Given the description of an element on the screen output the (x, y) to click on. 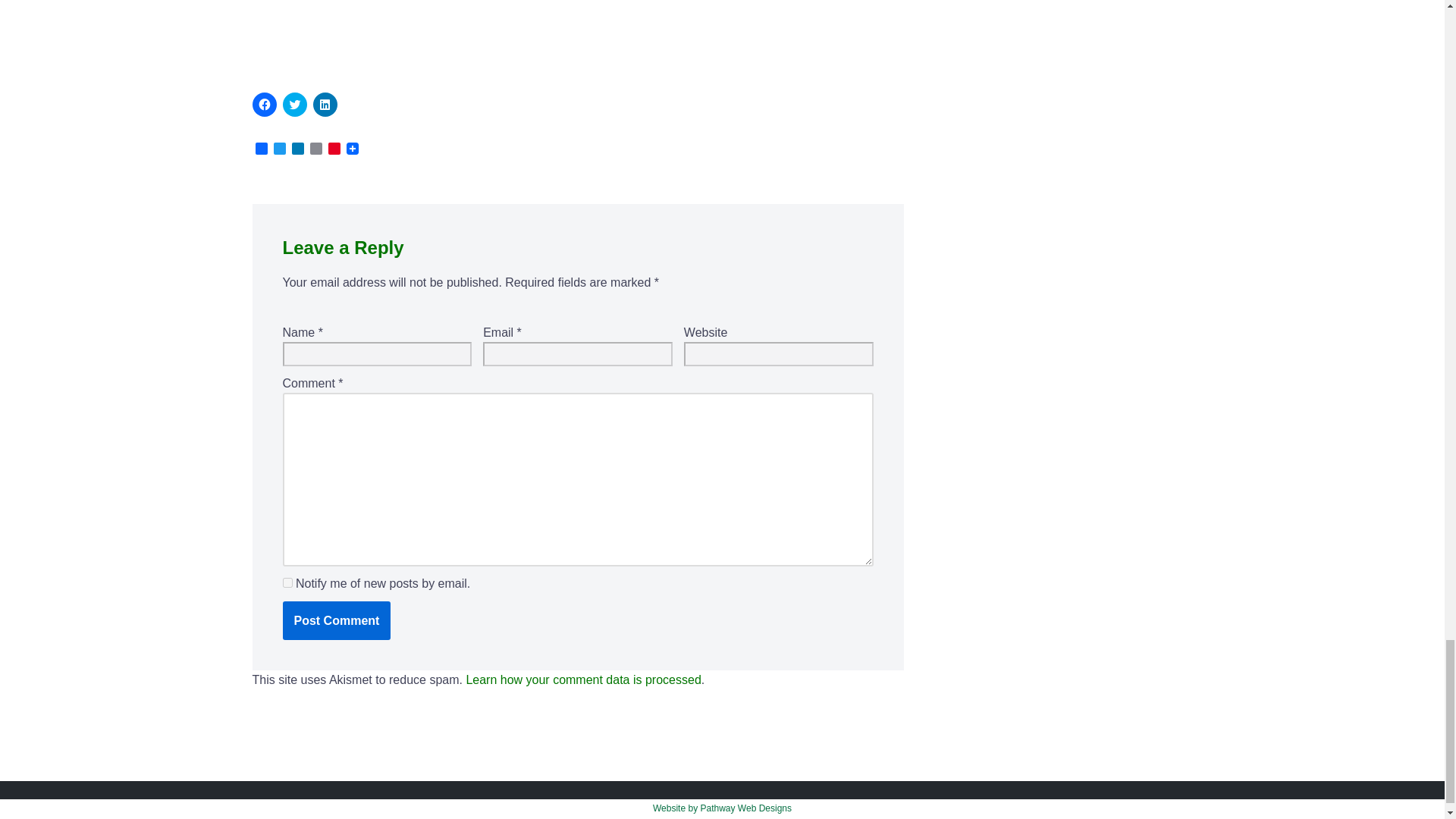
Pinterest (333, 149)
Click to share on LinkedIn (324, 103)
Post Comment (336, 620)
Click to share on Twitter (293, 103)
Print (314, 149)
LinkedIn (296, 149)
Click to share on Facebook (263, 103)
Twitter (278, 149)
subscribe (287, 583)
Facebook (260, 149)
